Given the description of an element on the screen output the (x, y) to click on. 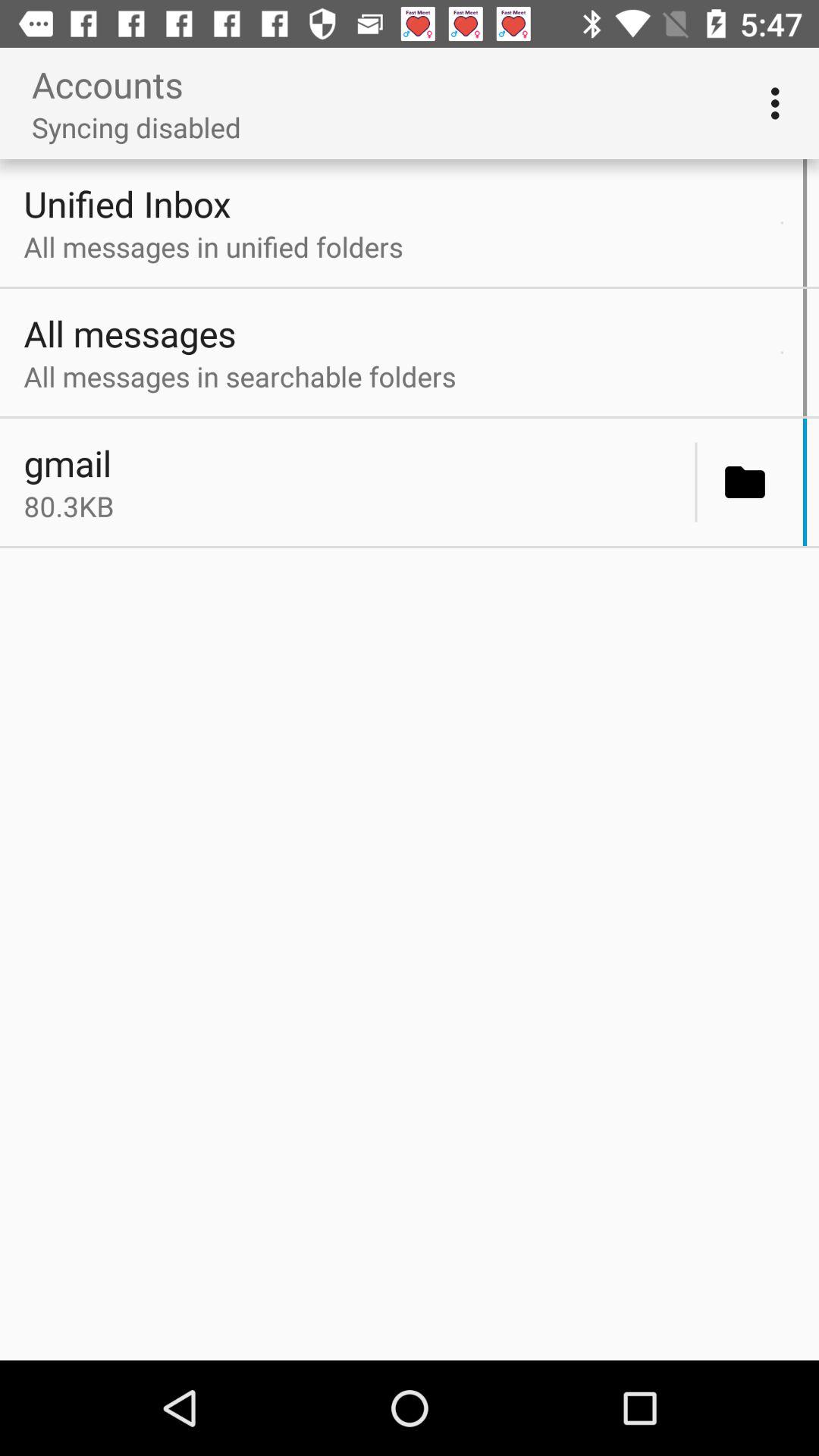
click item below the all messages in (355, 463)
